Given the description of an element on the screen output the (x, y) to click on. 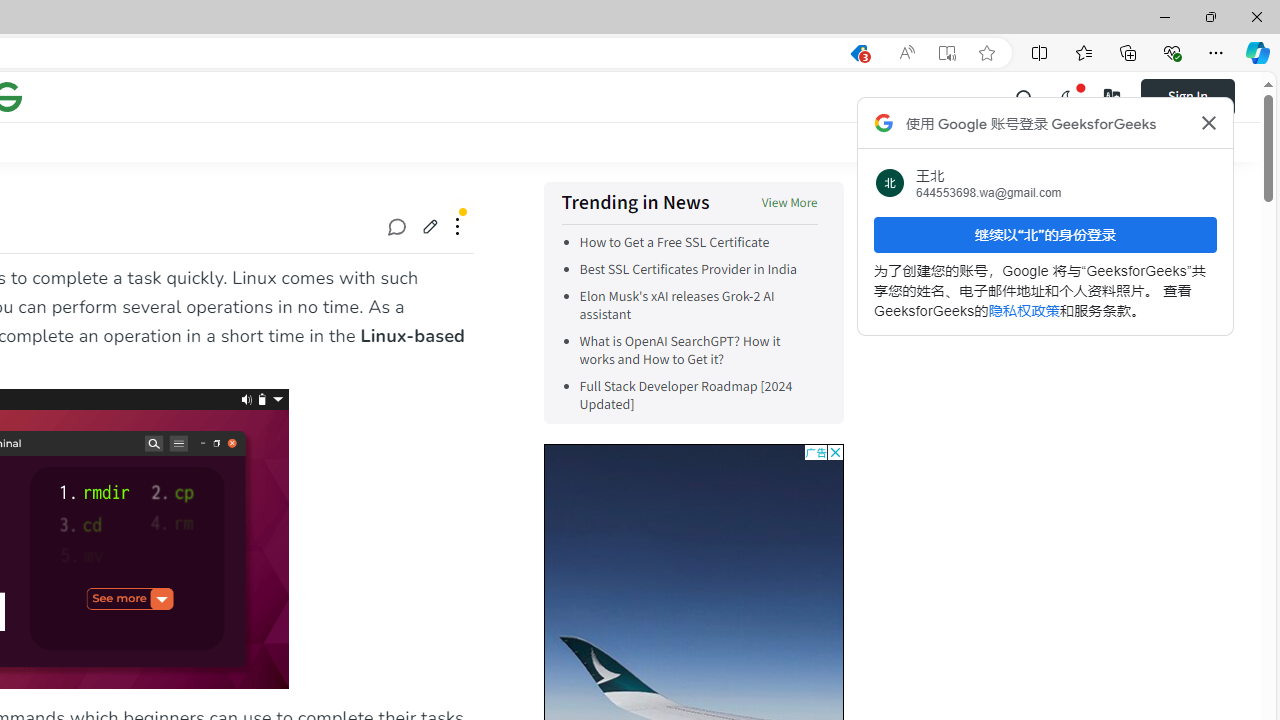
AutomationID: brandFlyLogo (805, 484)
What is OpenAI SearchGPT? How it works and How to Get it? (679, 350)
AutomationID: wheel (545, 450)
This site has coupons! Shopping in Microsoft Edge, 3 (858, 53)
Best SSL Certificates Provider in India (697, 269)
